Given the description of an element on the screen output the (x, y) to click on. 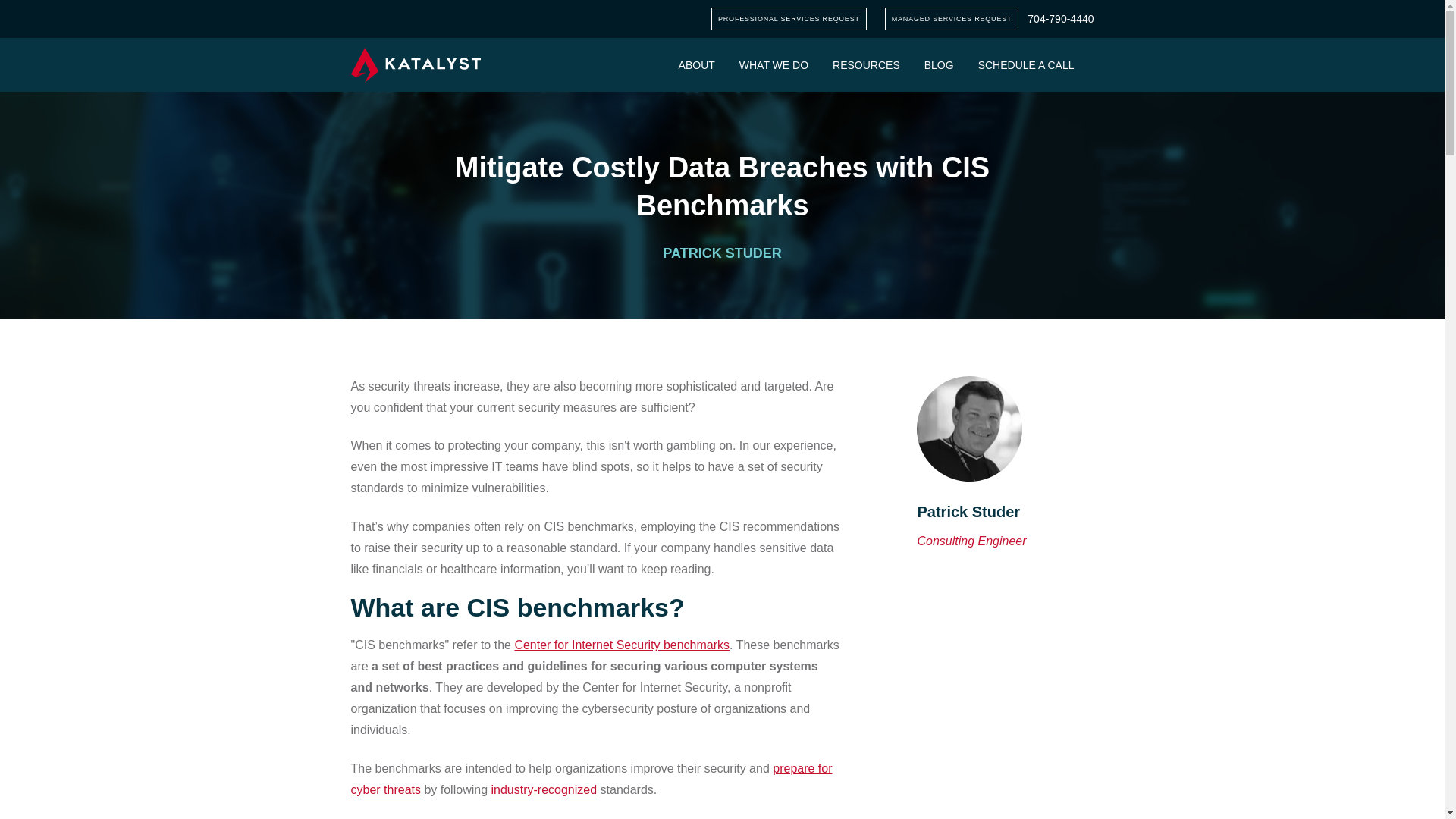
industry-recognized (543, 789)
BLOG (938, 64)
Center for Internet Security benchmarks (621, 644)
PROFESSIONAL SERVICES REQUEST (788, 18)
704-790-4440 (1060, 19)
WHAT WE DO (773, 64)
ABOUT (696, 64)
prepare for cyber threats (590, 779)
SCHEDULE A CALL (1026, 64)
MANAGED SERVICES REQUEST (952, 18)
